Given the description of an element on the screen output the (x, y) to click on. 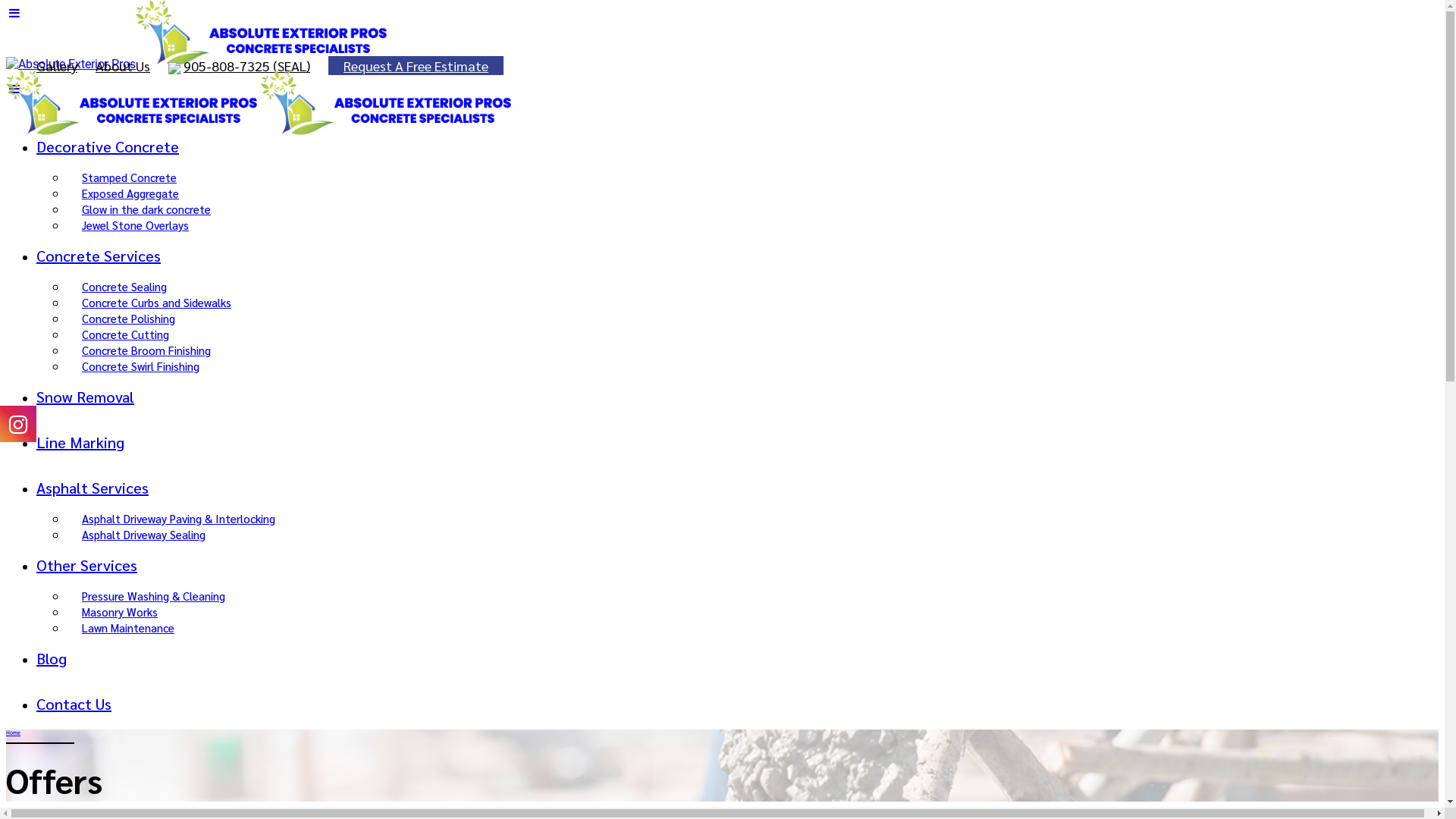
Line Marking Element type: text (80, 441)
Concrete Curbs and Sidewalks Element type: text (156, 302)
Asphalt Driveway Sealing Element type: text (143, 534)
Pressure Washing & Cleaning Element type: text (153, 595)
Jewel Stone Overlays Element type: text (134, 224)
Concrete Polishing Element type: text (128, 318)
Glow in the dark concrete Element type: text (145, 208)
Snow Removal Element type: text (85, 396)
Asphalt Driveway Paving & Interlocking Element type: text (178, 518)
Blog Element type: text (51, 658)
Lawn Maintenance Element type: text (127, 627)
Gallery Element type: text (56, 65)
About Us Element type: text (122, 65)
905-808-7325 (SEAL) Element type: text (246, 65)
Stamped Concrete Element type: text (128, 177)
Concrete Services Element type: text (98, 255)
Decorative Concrete Element type: text (107, 146)
Other Services Element type: text (86, 564)
Concrete Broom Finishing Element type: text (145, 349)
Home Element type: text (13, 732)
Request A Free Estimate Element type: text (415, 65)
Masonry Works Element type: text (119, 611)
Concrete Cutting Element type: text (125, 334)
Contact Us Element type: text (73, 703)
Asphalt Services Element type: text (92, 487)
Concrete Sealing Element type: text (124, 286)
Exposed Aggregate Element type: text (130, 192)
Concrete Swirl Finishing Element type: text (140, 365)
